Given the description of an element on the screen output the (x, y) to click on. 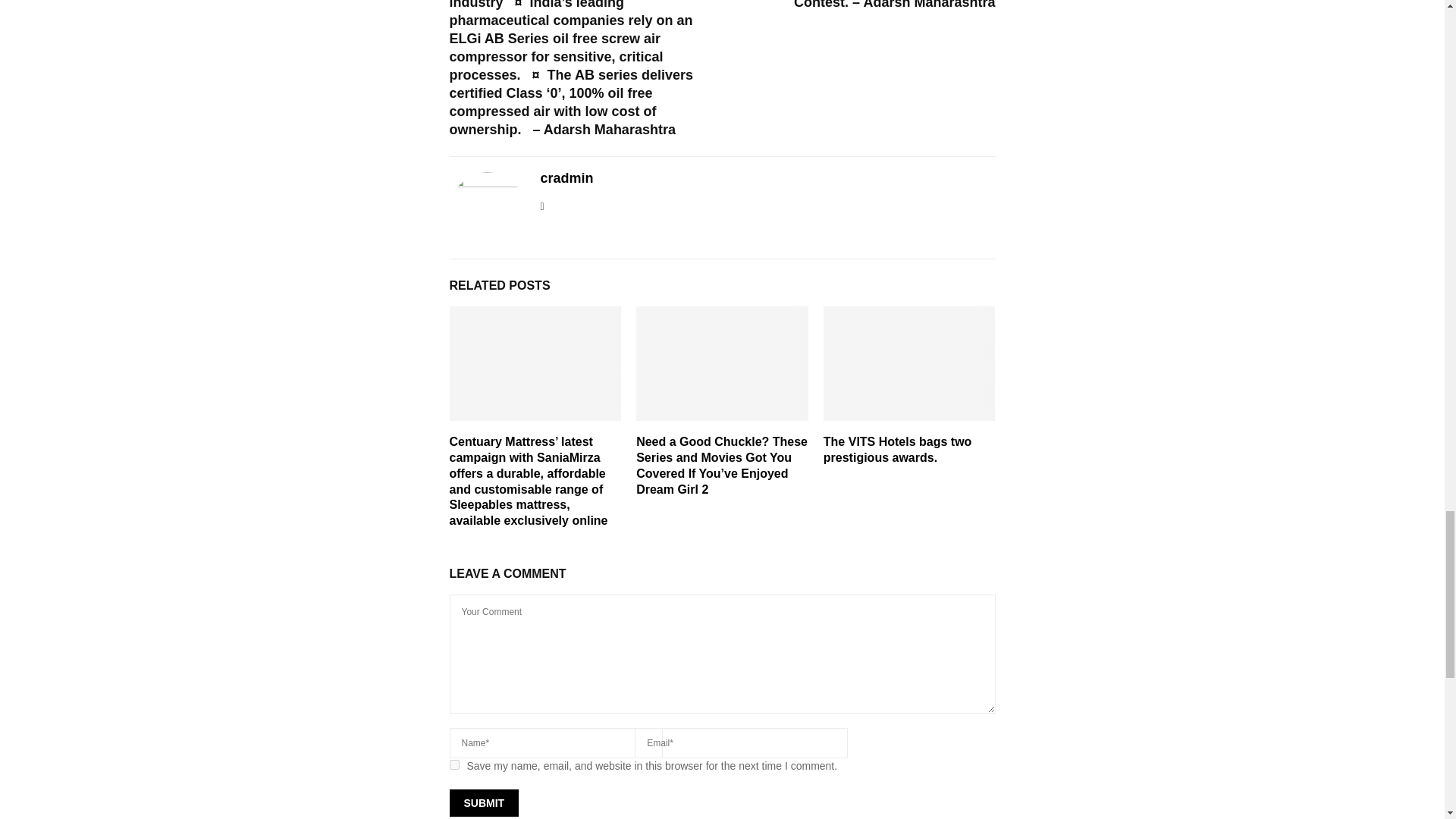
Submit (483, 802)
yes (453, 764)
